Given the description of an element on the screen output the (x, y) to click on. 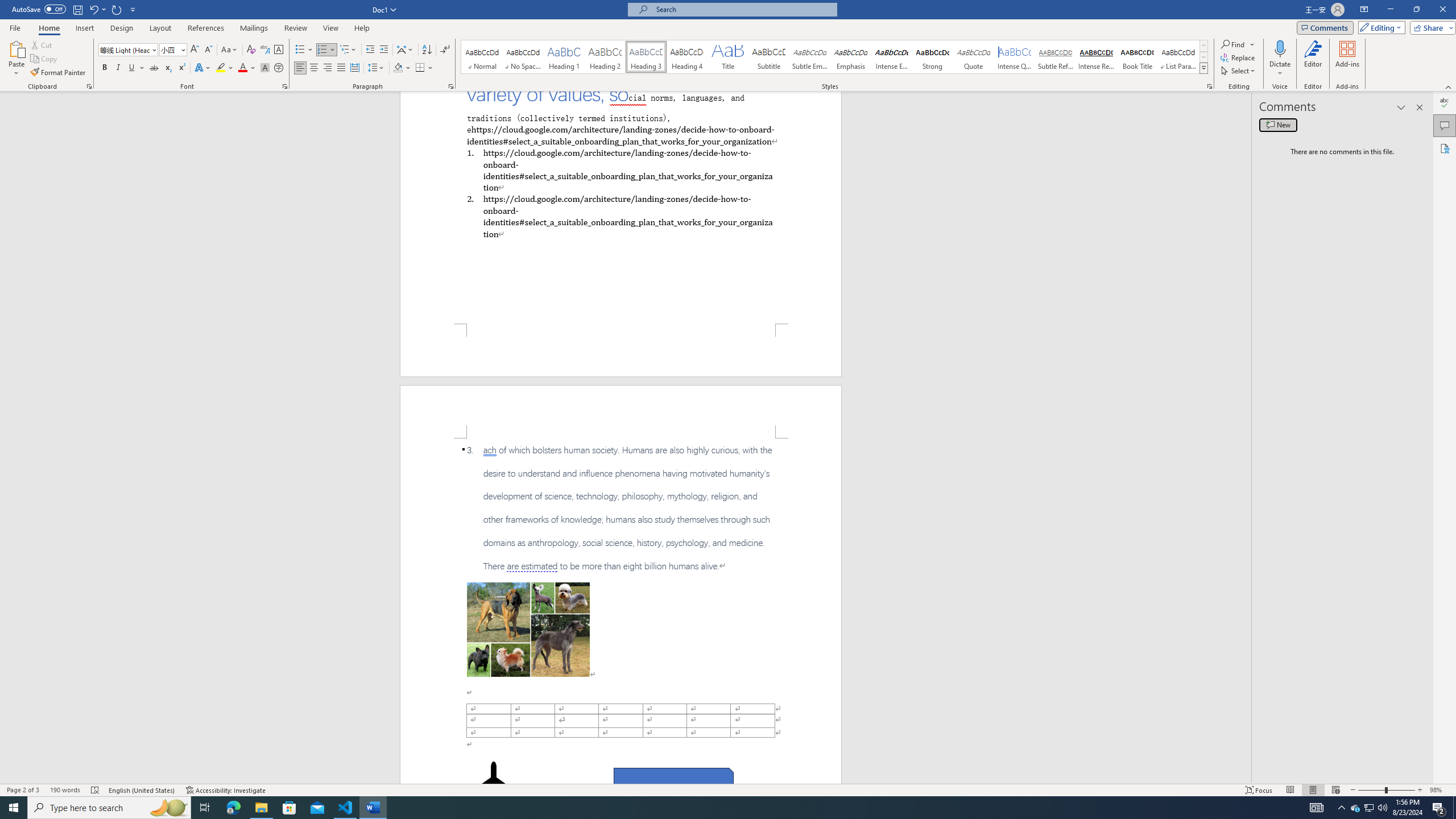
Font... (285, 85)
2. (620, 216)
Paragraph... (450, 85)
Show/Hide Editing Marks (444, 49)
Intense Emphasis (891, 56)
Superscript (180, 67)
Italic (118, 67)
Character Border (278, 49)
AutomationID: QuickStylesGallery (834, 56)
